Given the description of an element on the screen output the (x, y) to click on. 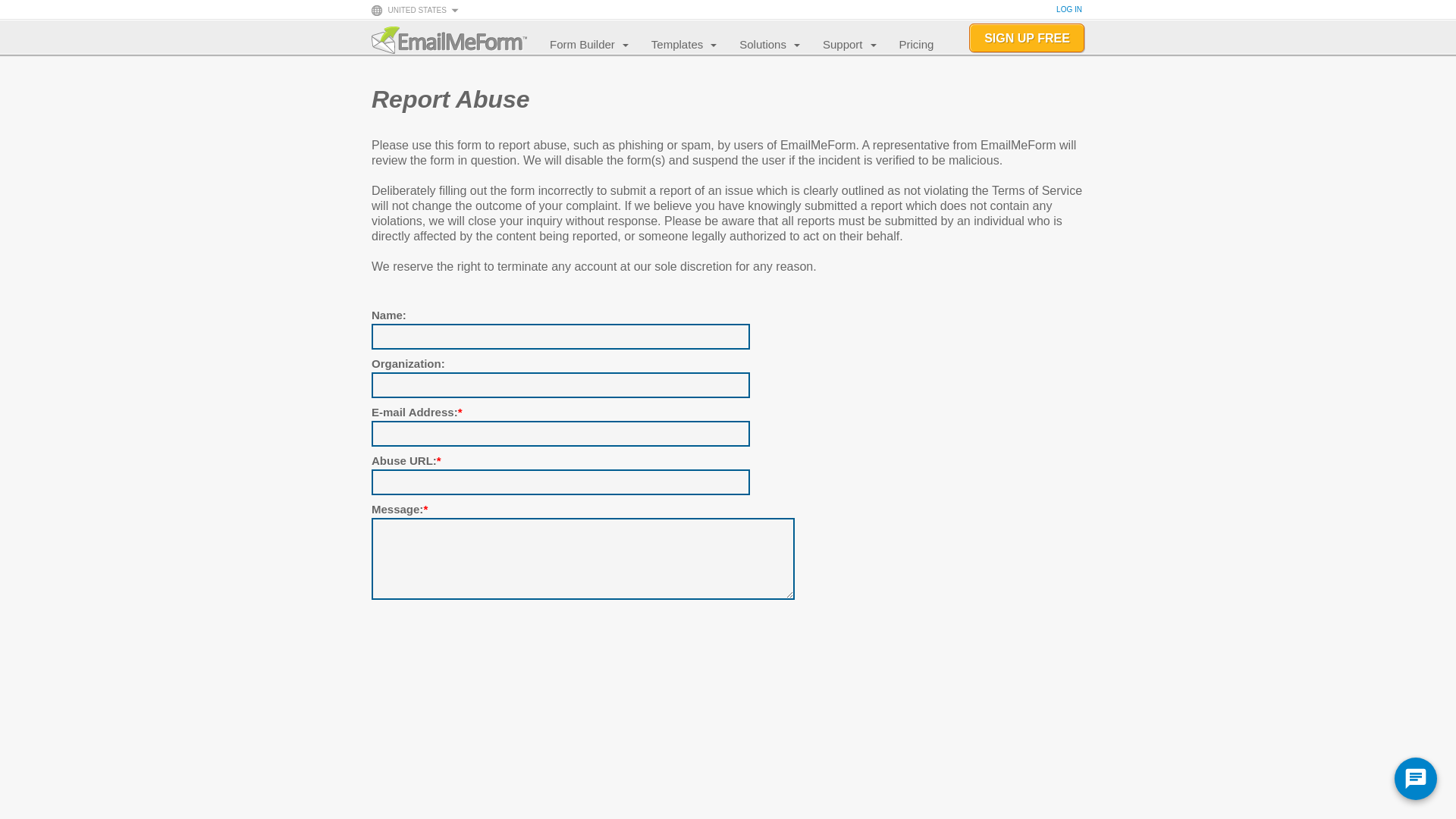
Pricing (909, 43)
Form Builder (575, 43)
EmailMeForm (449, 40)
SIGN UP FREE (1026, 37)
UNITED STATES (415, 9)
Solutions (754, 43)
Templates (669, 43)
LOG IN (1069, 9)
Support (834, 43)
